Given the description of an element on the screen output the (x, y) to click on. 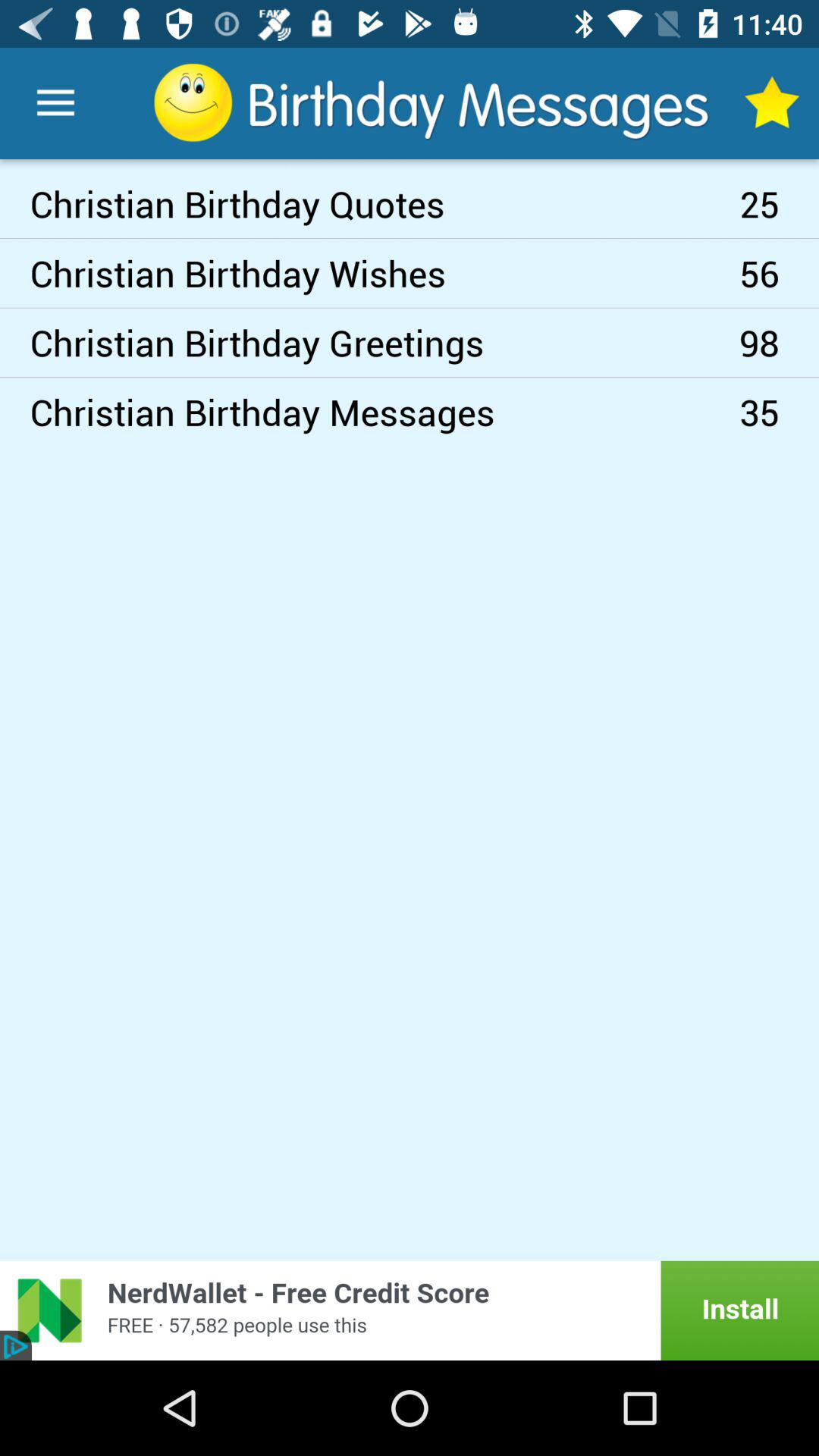
advertisement by google adsense (409, 1310)
